Given the description of an element on the screen output the (x, y) to click on. 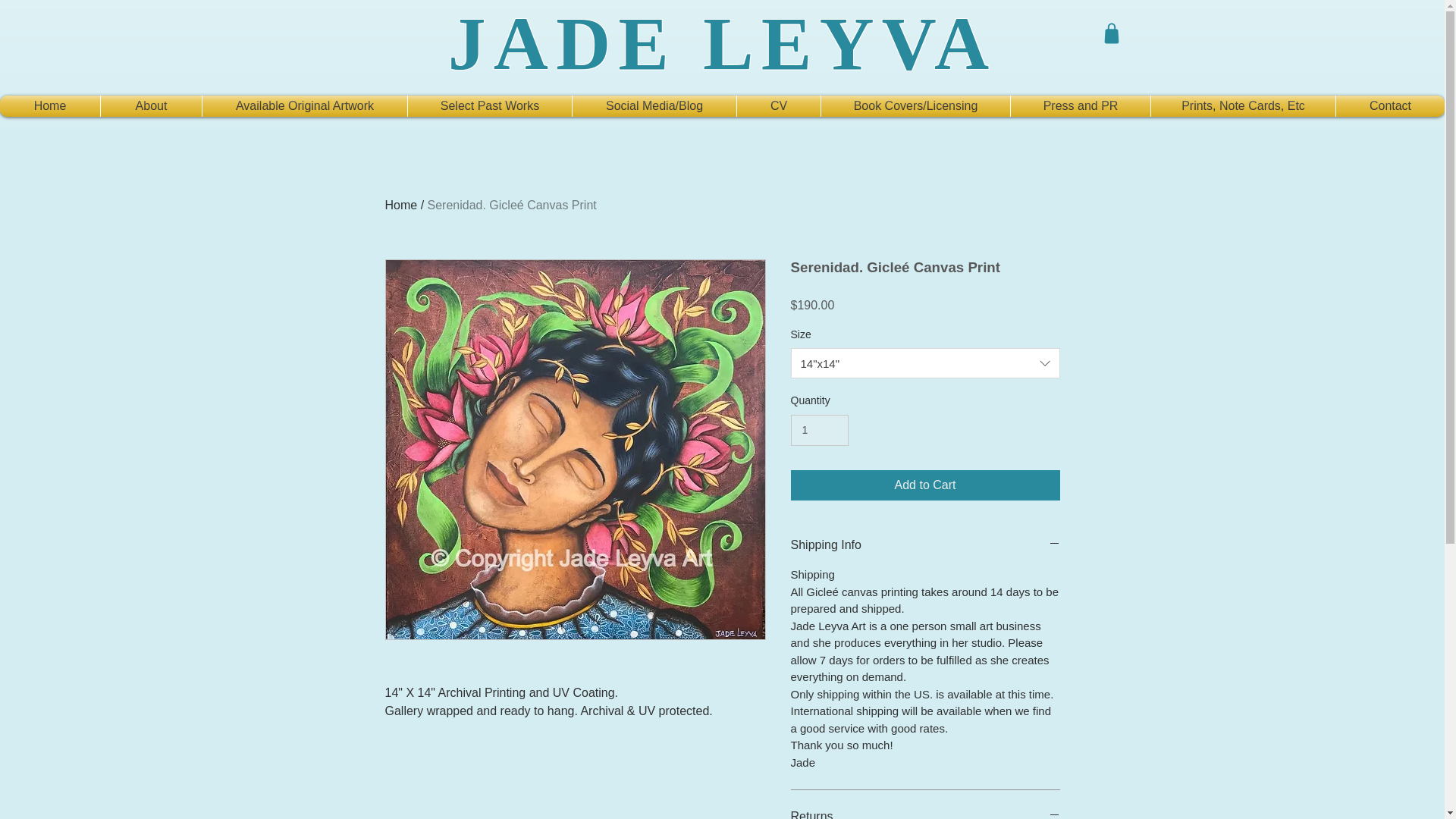
Available Original Artwork (304, 106)
14"x14" (924, 363)
Returns (924, 813)
About (151, 106)
Shipping Info (924, 545)
Add to Cart (924, 485)
Select Past Works (489, 106)
Prints, Note Cards, Etc (1243, 106)
JADE LEYVA (721, 43)
1 (818, 429)
